Given the description of an element on the screen output the (x, y) to click on. 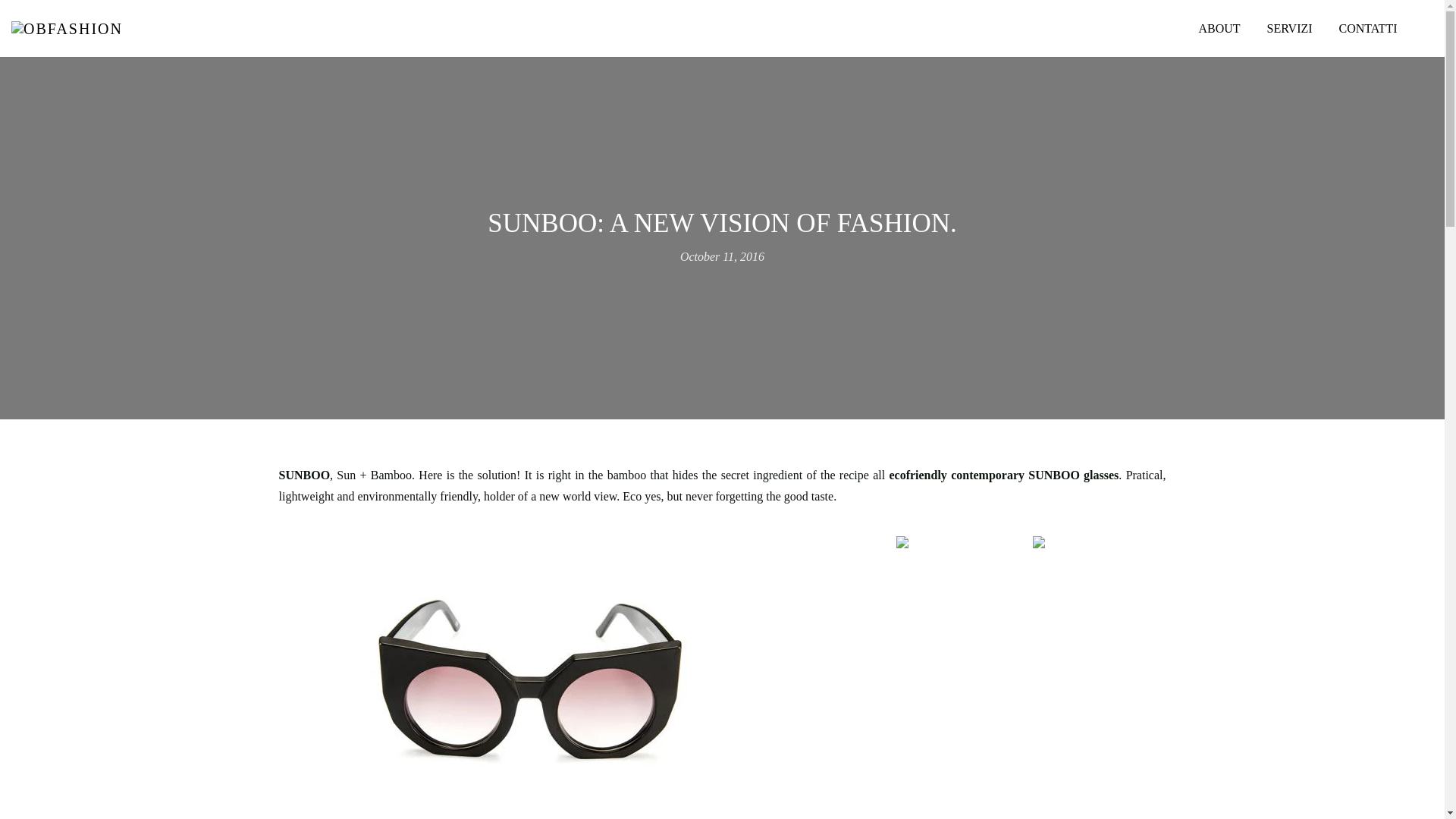
SERVIZI (1288, 28)
CONTATTI (1367, 28)
ABOUT (1219, 28)
